Given the description of an element on the screen output the (x, y) to click on. 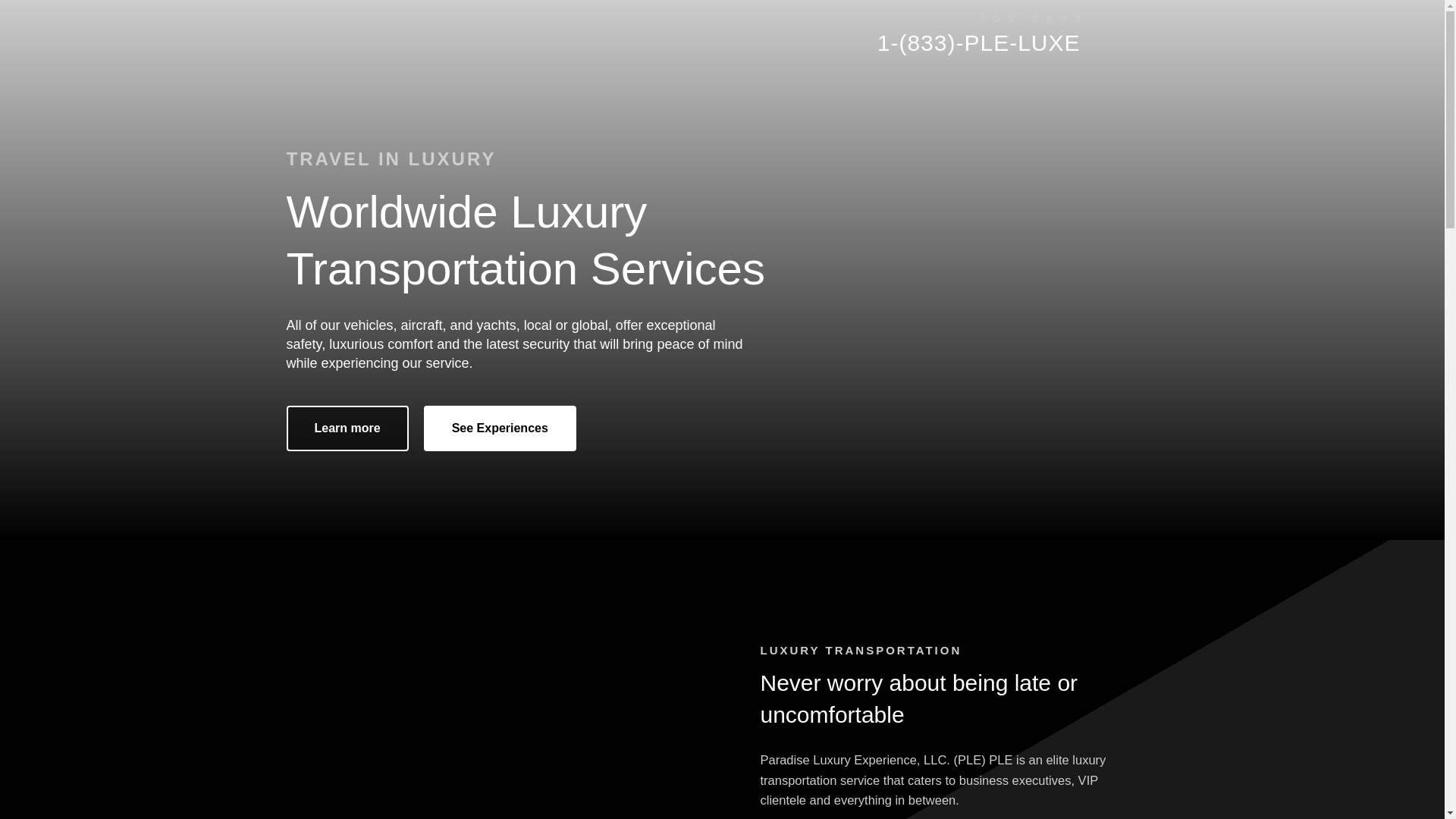
See Experiences (499, 428)
Call Us (978, 42)
Learn more (347, 428)
Menu (1143, 33)
